Given the description of an element on the screen output the (x, y) to click on. 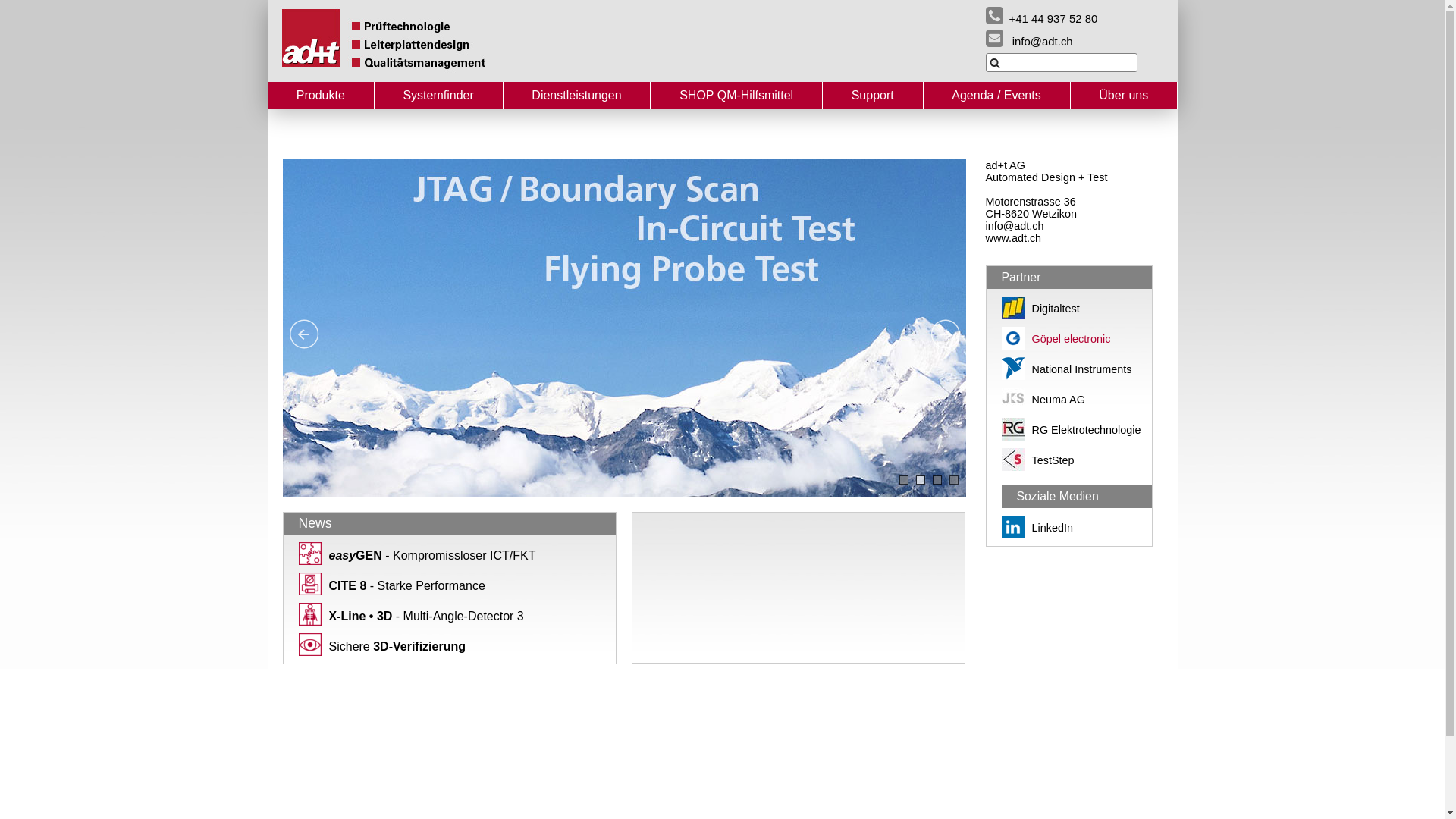
info@adt.ch Element type: text (1029, 38)
SHOP QM-Hilfsmittel Element type: text (736, 94)
AXOI Element type: hover (309, 613)
+41 44 937 52 80 Element type: text (1041, 15)
AOI Element type: hover (309, 644)
